Given the description of an element on the screen output the (x, y) to click on. 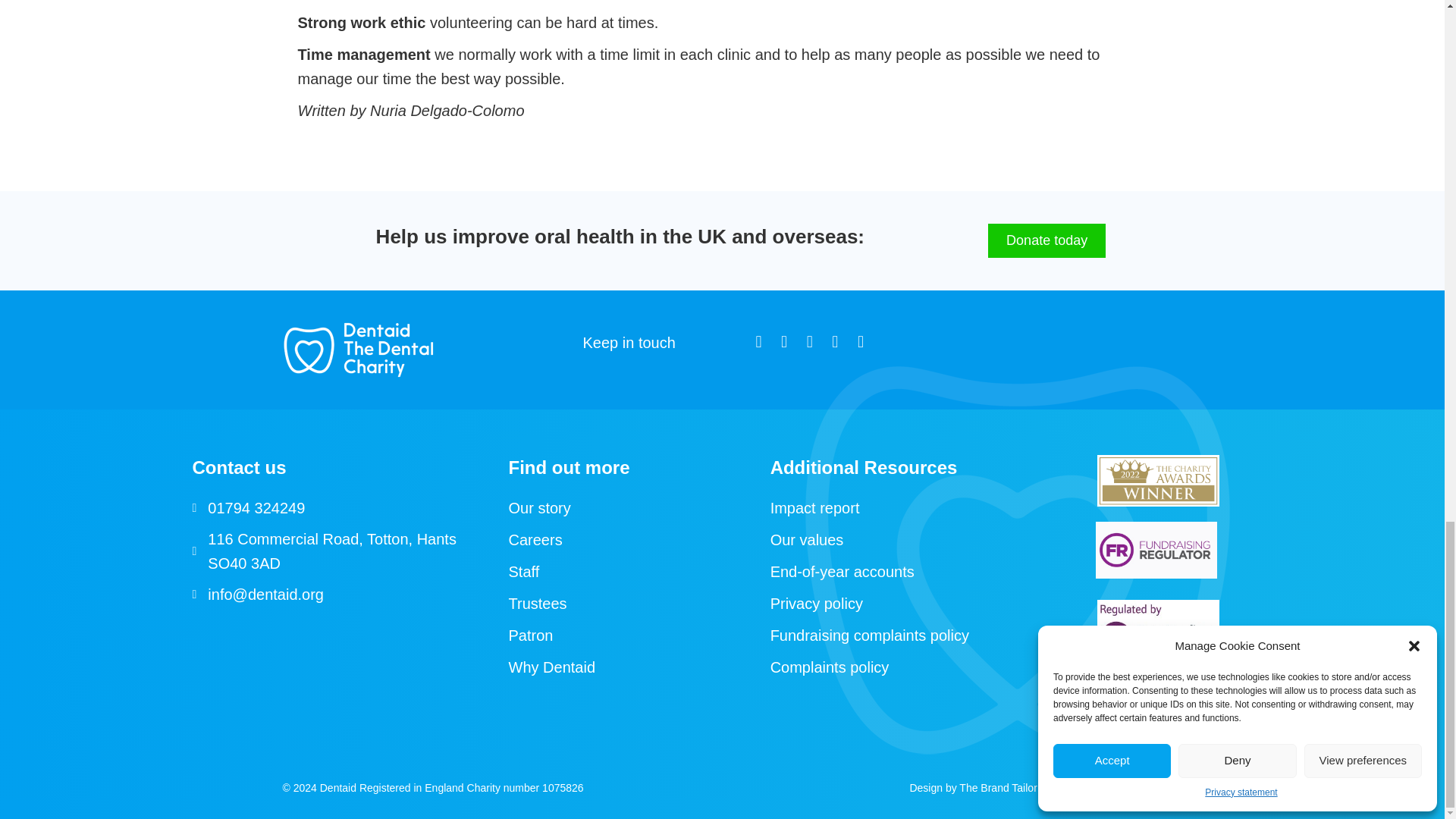
116 Commercial Road, Totton, Hants SO40 3AD (342, 551)
cccccc (1156, 549)
Hallmark CA2022 - winner logo (1158, 480)
GFSSFD (1158, 629)
Dentaid-Logo-White-No-Backgroundx200 (357, 350)
01794 324249 (256, 507)
Donate today (1046, 240)
